Given the description of an element on the screen output the (x, y) to click on. 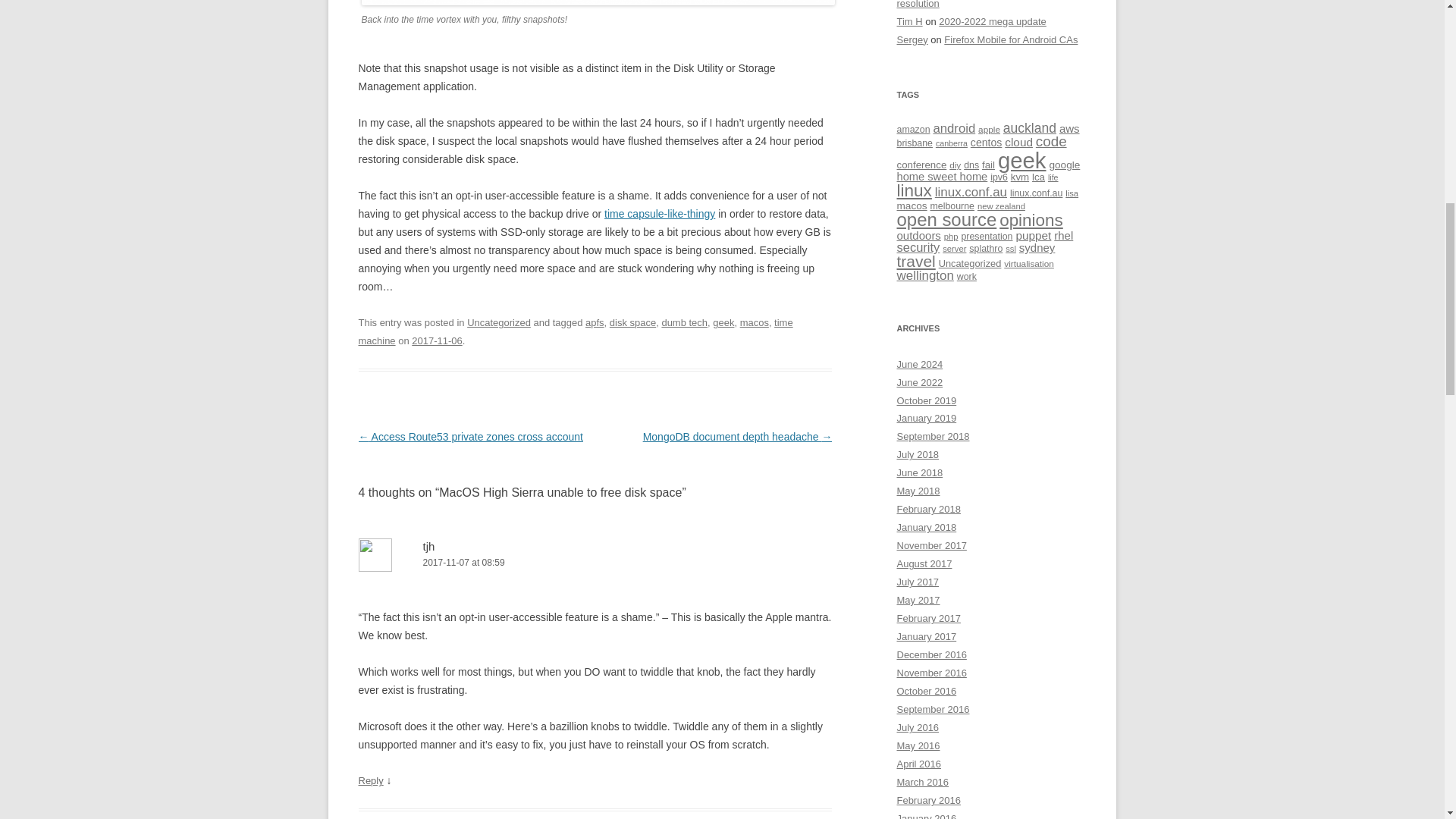
apfs (594, 322)
disk space (633, 322)
23:26 (436, 340)
Reply (370, 780)
2017-11-06 (436, 340)
time capsule-like-thingy (659, 214)
tjh (429, 545)
macos (753, 322)
geek (723, 322)
Uncategorized (499, 322)
